Given the description of an element on the screen output the (x, y) to click on. 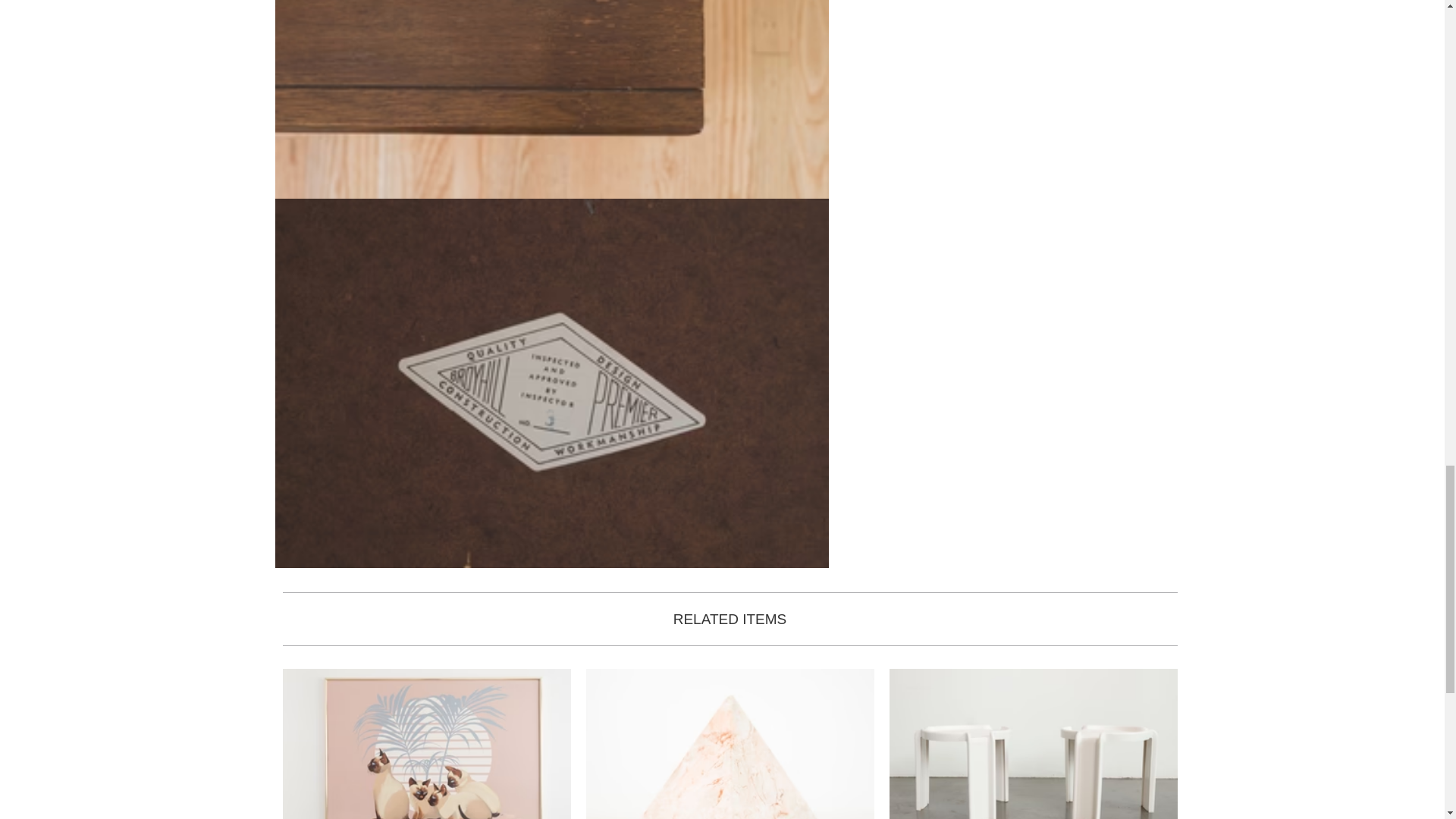
Broyhill Emphasis Nightstand (551, 99)
Broyhill Emphasis Nightstand (426, 744)
